Given the description of an element on the screen output the (x, y) to click on. 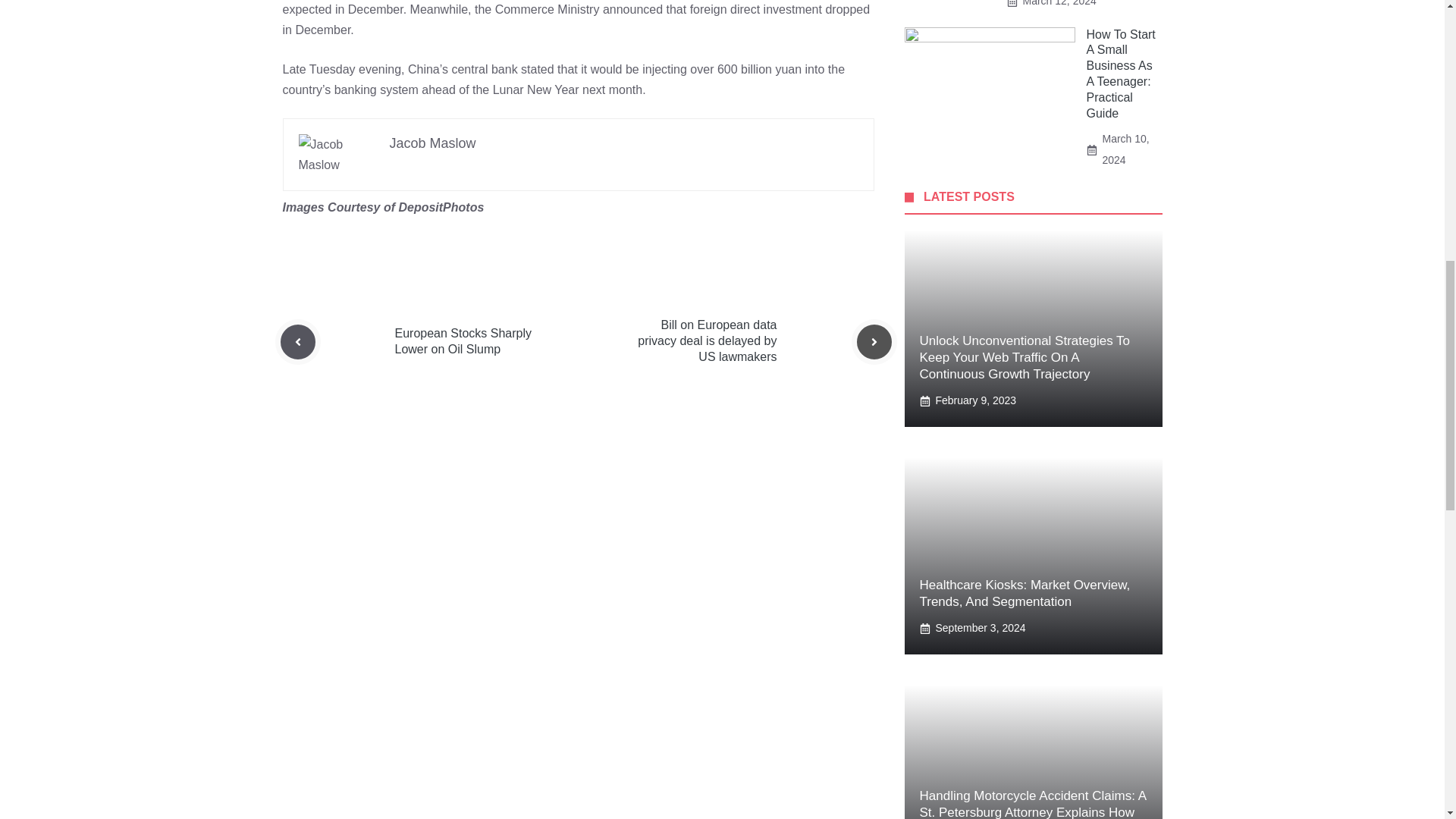
DepositPhotos (440, 206)
Healthcare Kiosks: Market Overview, Trends, And Segmentation (1023, 593)
Jacob Maslow (433, 142)
European Stocks Sharply Lower on Oil Slump (462, 340)
Scroll back to top (1406, 720)
